Given the description of an element on the screen output the (x, y) to click on. 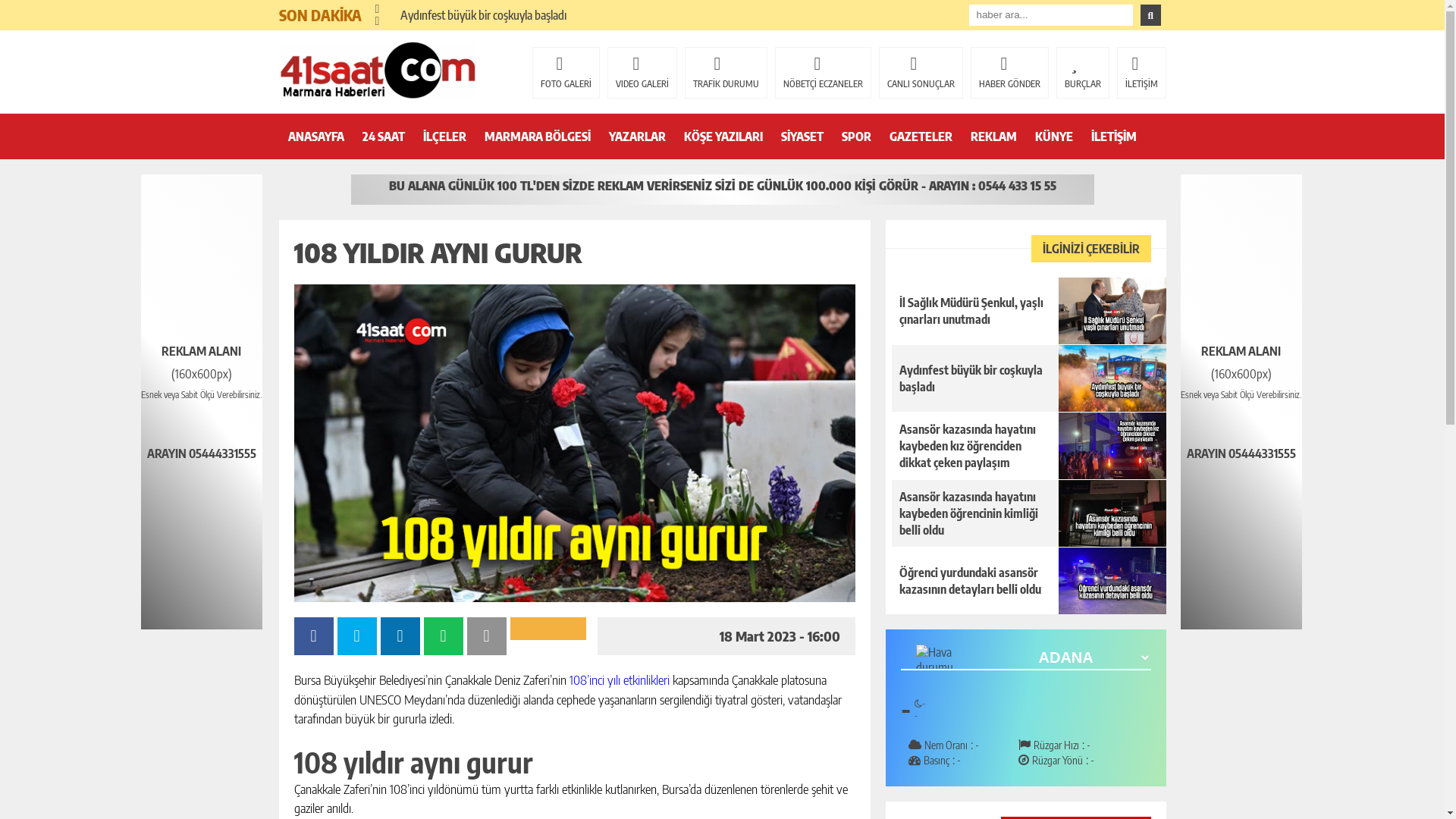
REKLAM Element type: text (993, 136)
SPOR Element type: text (856, 136)
GAZETELER Element type: text (919, 136)
ANASAYFA Element type: text (316, 136)
YAZARLAR Element type: text (636, 136)
24 SAAT Element type: text (383, 136)
